Given the description of an element on the screen output the (x, y) to click on. 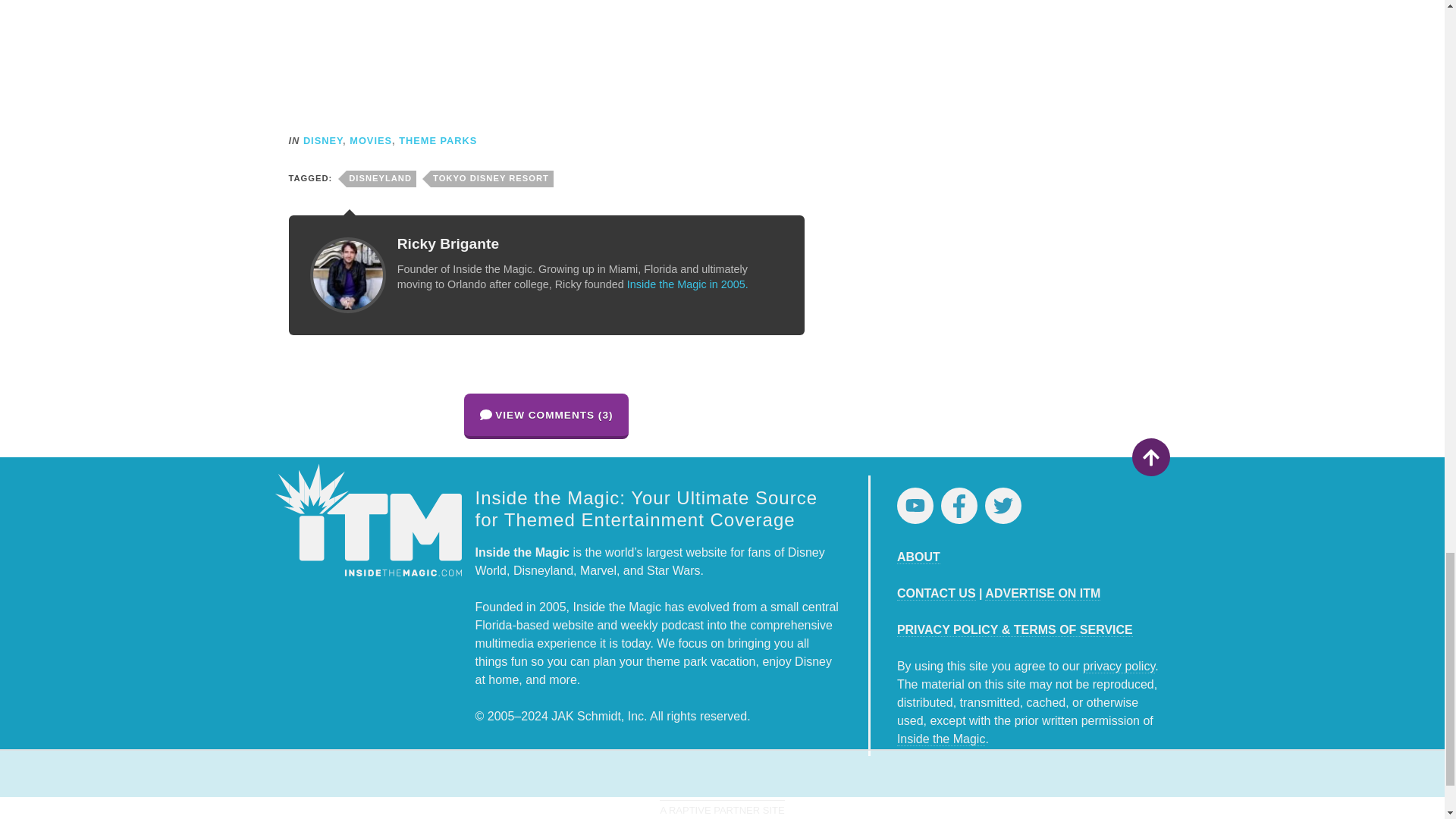
Return to Top (1150, 456)
